Given the description of an element on the screen output the (x, y) to click on. 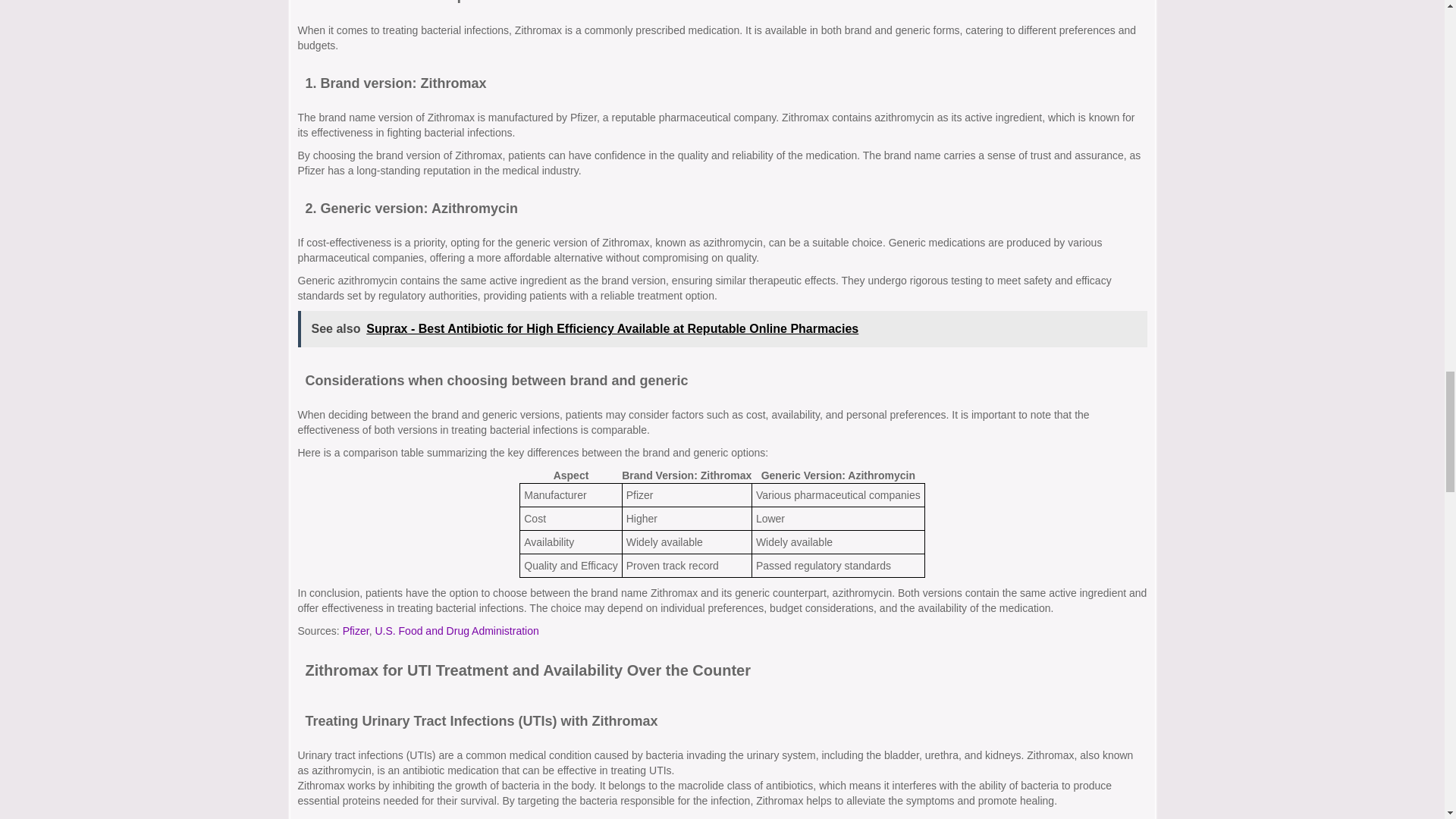
Pfizer (355, 630)
U.S. Food and Drug Administration (456, 630)
